Given the description of an element on the screen output the (x, y) to click on. 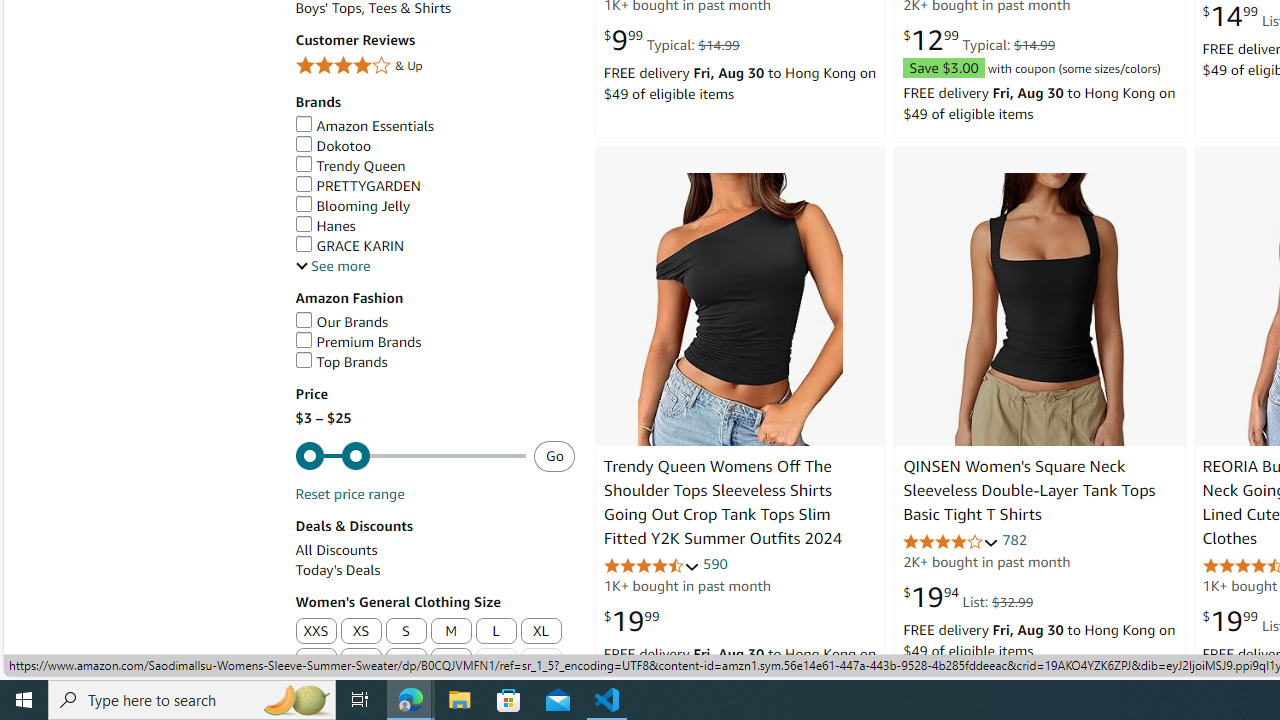
XXL (315, 661)
All Discounts (335, 550)
6XL (496, 662)
$12.99 Typical: $14.99 (979, 40)
XL (540, 631)
4XL (406, 661)
M (451, 632)
Minimum (410, 456)
GRACE KARIN (349, 246)
Premium Brands (358, 341)
4XL (406, 662)
XXS (315, 632)
3XL (360, 661)
Blooming Jelly (352, 205)
4 Stars & Up (434, 66)
